Given the description of an element on the screen output the (x, y) to click on. 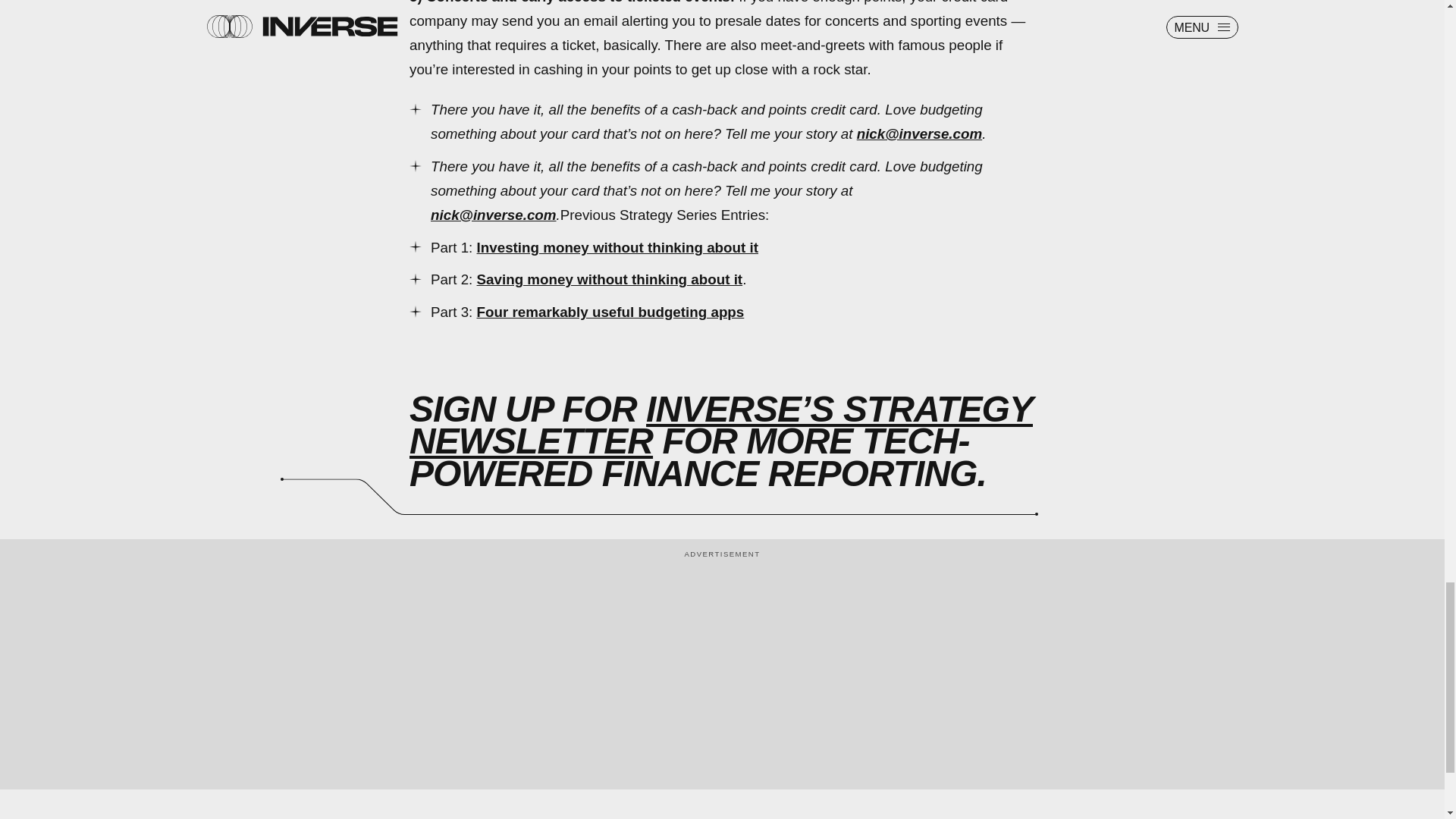
Investing money without thinking about it (617, 247)
Four remarkably useful budgeting apps (610, 311)
Saving money without thinking about it (609, 279)
